Given the description of an element on the screen output the (x, y) to click on. 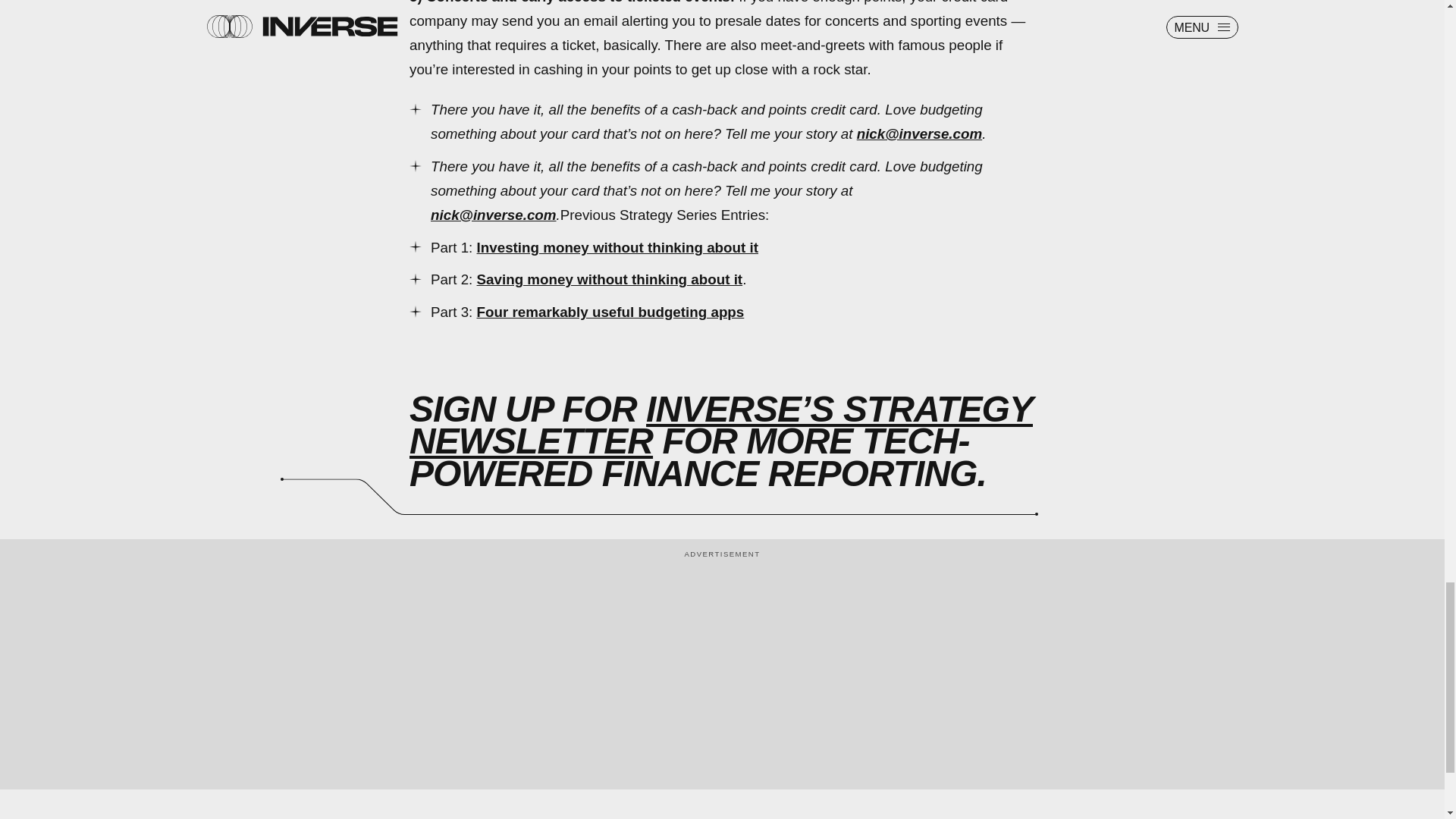
Investing money without thinking about it (617, 247)
Four remarkably useful budgeting apps (610, 311)
Saving money without thinking about it (609, 279)
